Given the description of an element on the screen output the (x, y) to click on. 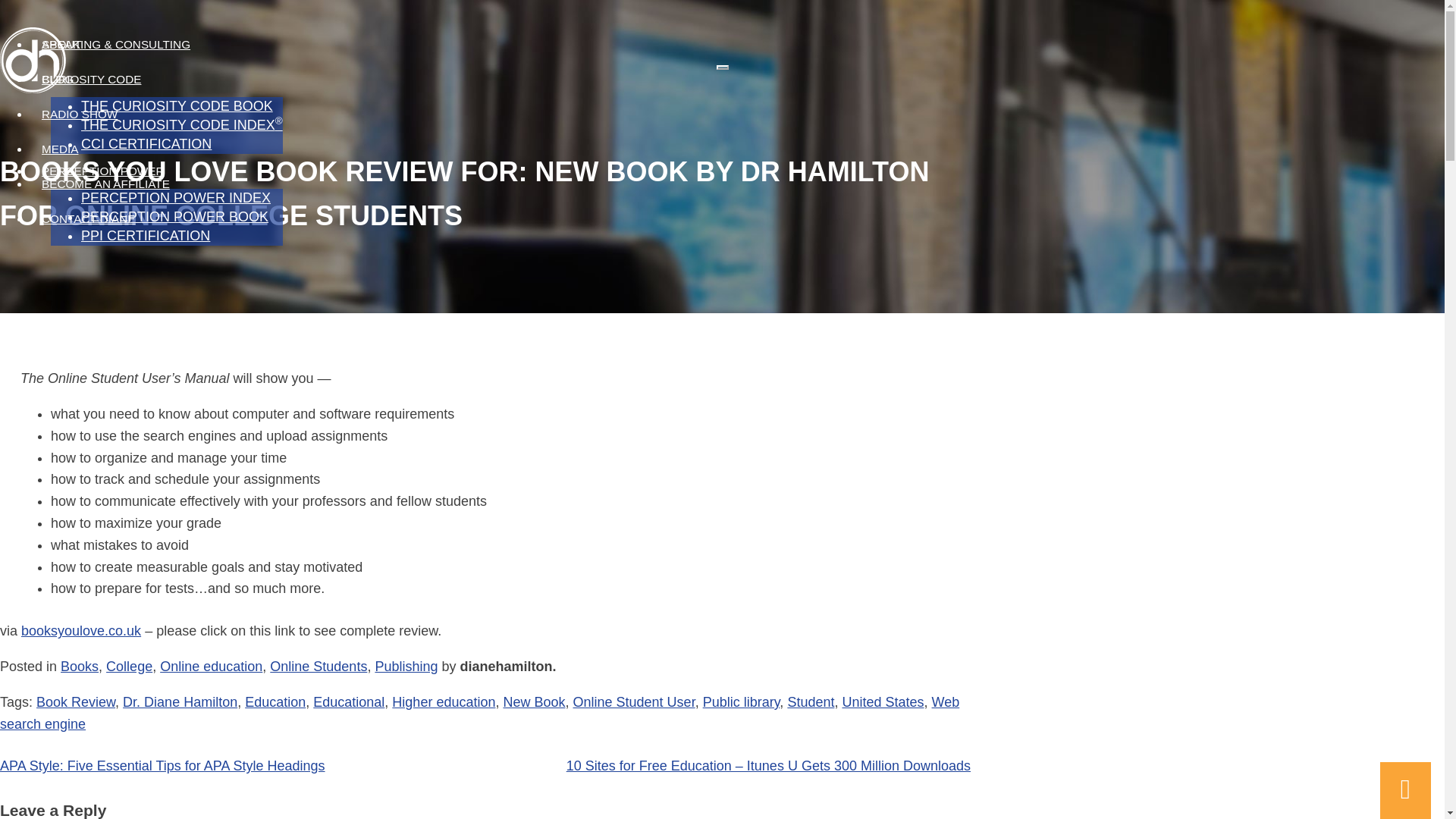
Online Students (317, 666)
CCI CERTIFICATION (146, 143)
Online Student User (634, 702)
PERCEPTION POWER (102, 171)
ABOUT (61, 44)
Higher education (443, 702)
Book Review (75, 702)
Books (80, 666)
College (129, 666)
Public library (741, 702)
Toggle navigation (722, 67)
Publishing (406, 666)
PERCEPTION POWER BOOK (174, 216)
CONTACT DIANE (88, 218)
RADIO SHOW (79, 114)
